Given the description of an element on the screen output the (x, y) to click on. 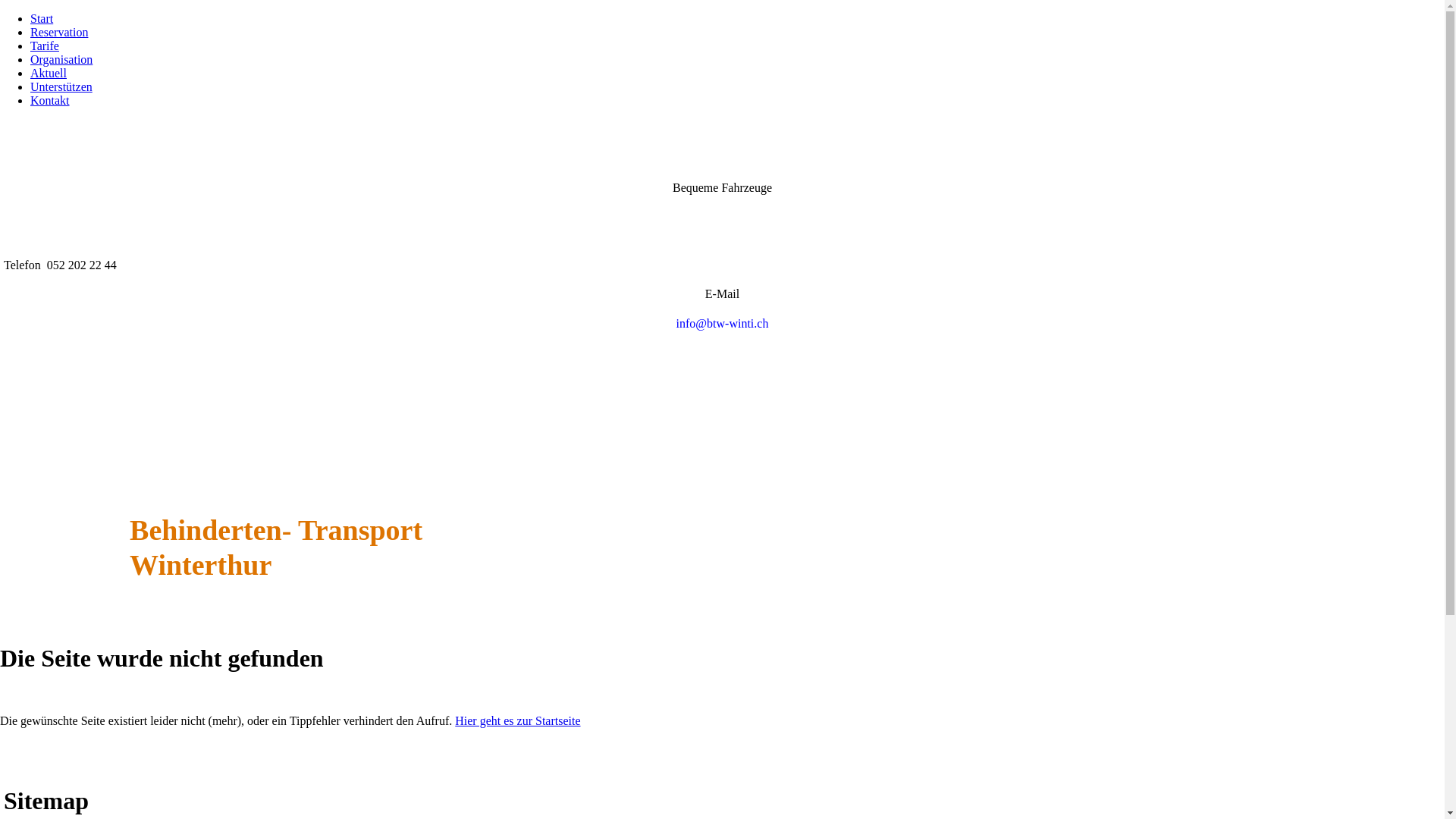
Organisation Element type: text (61, 59)
Aktuell Element type: text (48, 72)
Tarife Element type: text (44, 45)
Start Element type: text (41, 18)
Hier geht es zur Startseite Element type: text (517, 720)
Reservation Element type: text (58, 31)
Kontakt Element type: text (49, 100)
